Given the description of an element on the screen output the (x, y) to click on. 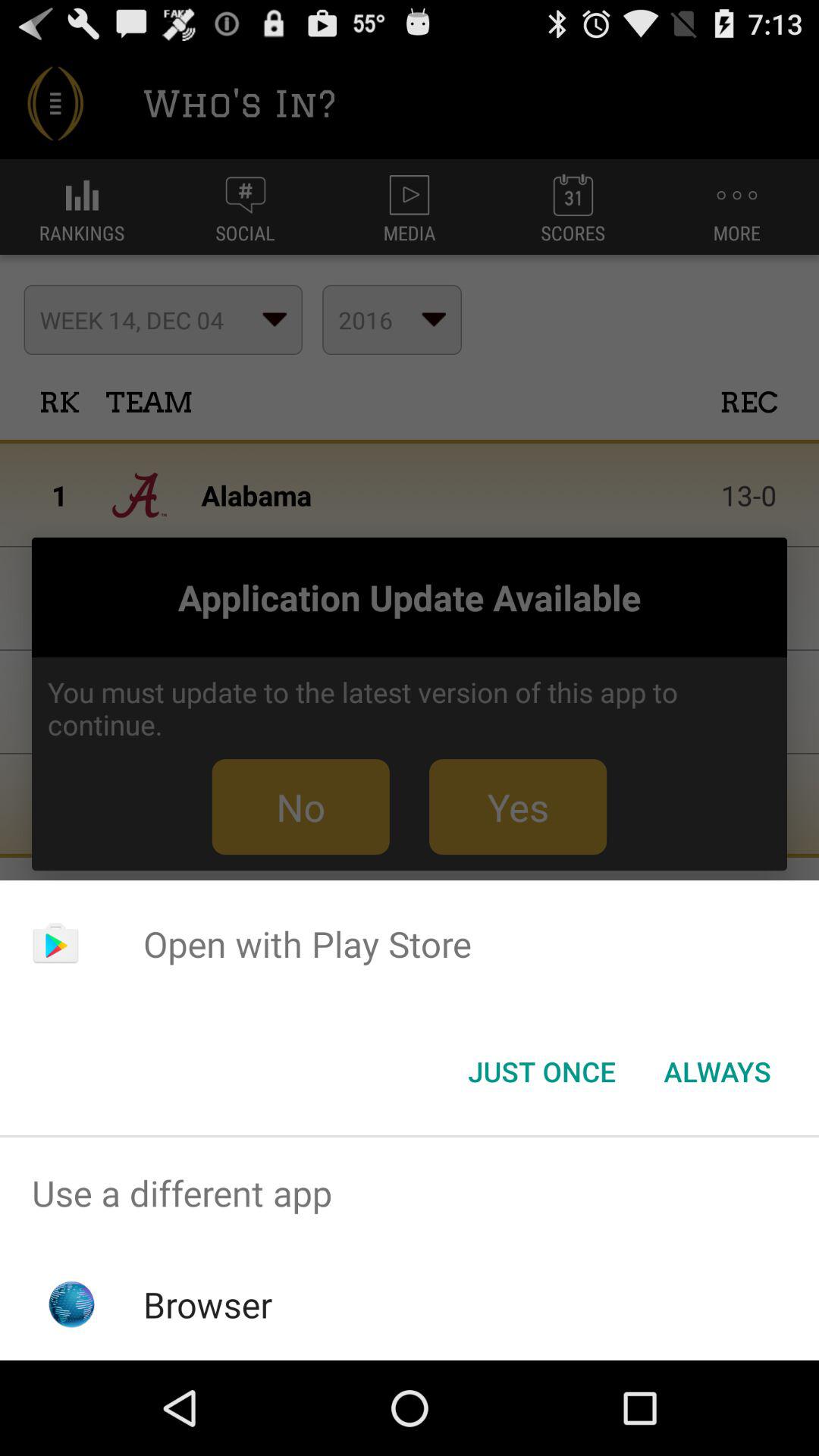
press the icon to the right of the just once item (717, 1071)
